Given the description of an element on the screen output the (x, y) to click on. 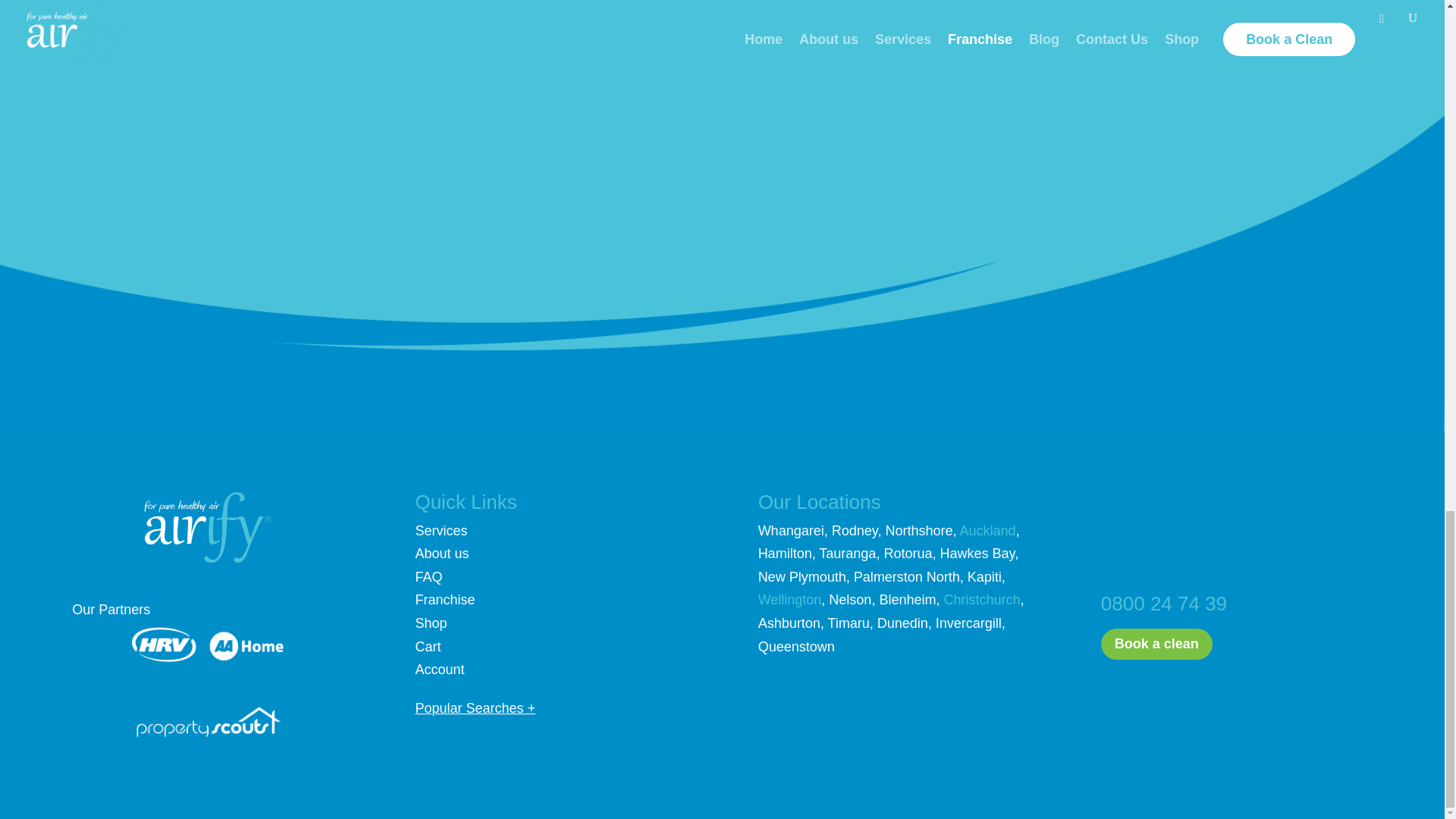
Franchise (444, 599)
Wellington (790, 599)
Account (439, 669)
Airify Logo-03 (207, 527)
Shop (430, 622)
propertyscouts-logo (207, 720)
Book a clean (1156, 644)
0800 24 74 39 (1163, 603)
Auckland (986, 530)
Christchurch (981, 599)
Partners Logos (207, 644)
FAQ (428, 576)
Cart (427, 646)
About us (441, 553)
Services (440, 530)
